Given the description of an element on the screen output the (x, y) to click on. 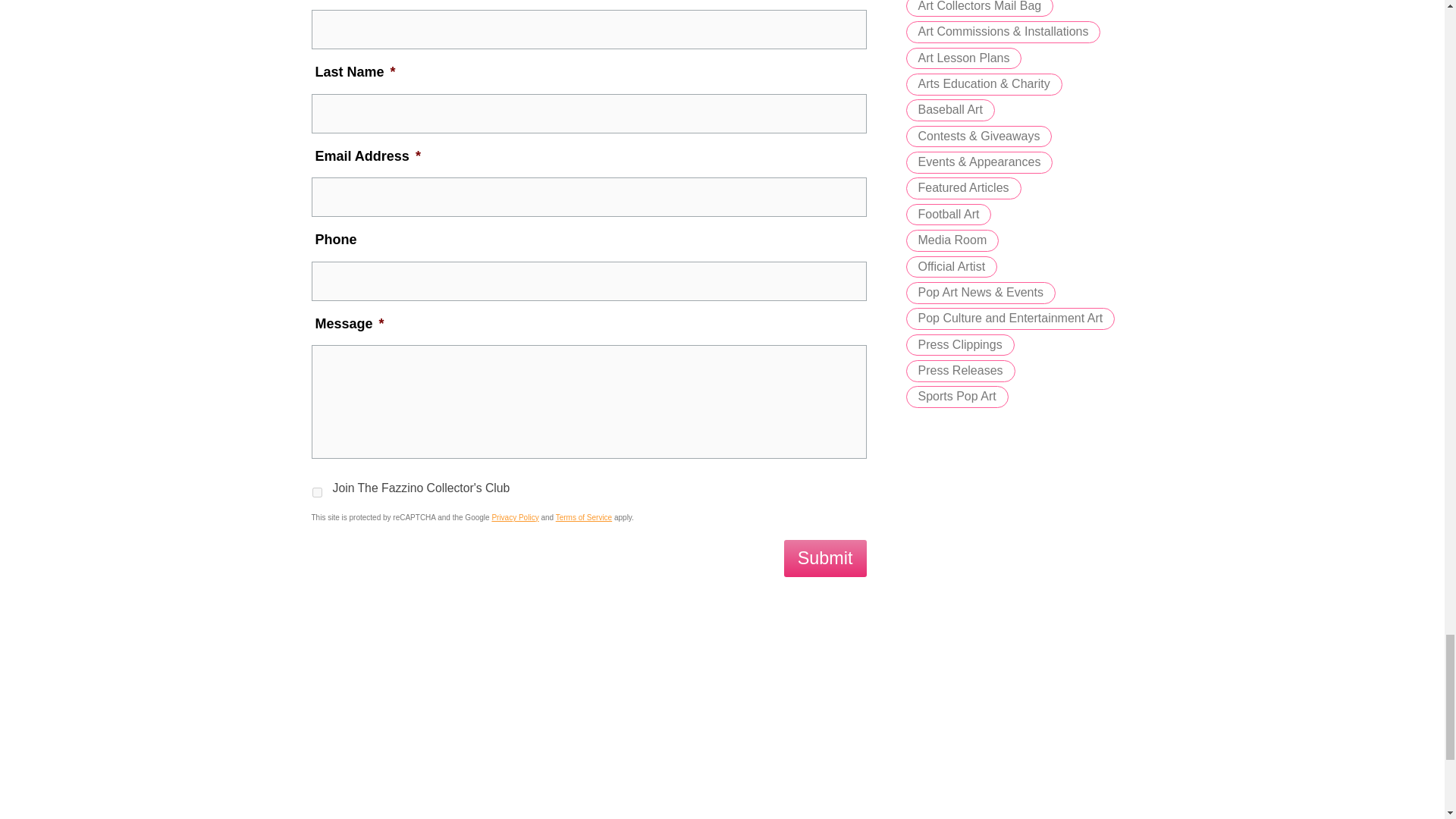
Submit (825, 558)
Join The Fazzino Collector's Club (317, 492)
